Given the description of an element on the screen output the (x, y) to click on. 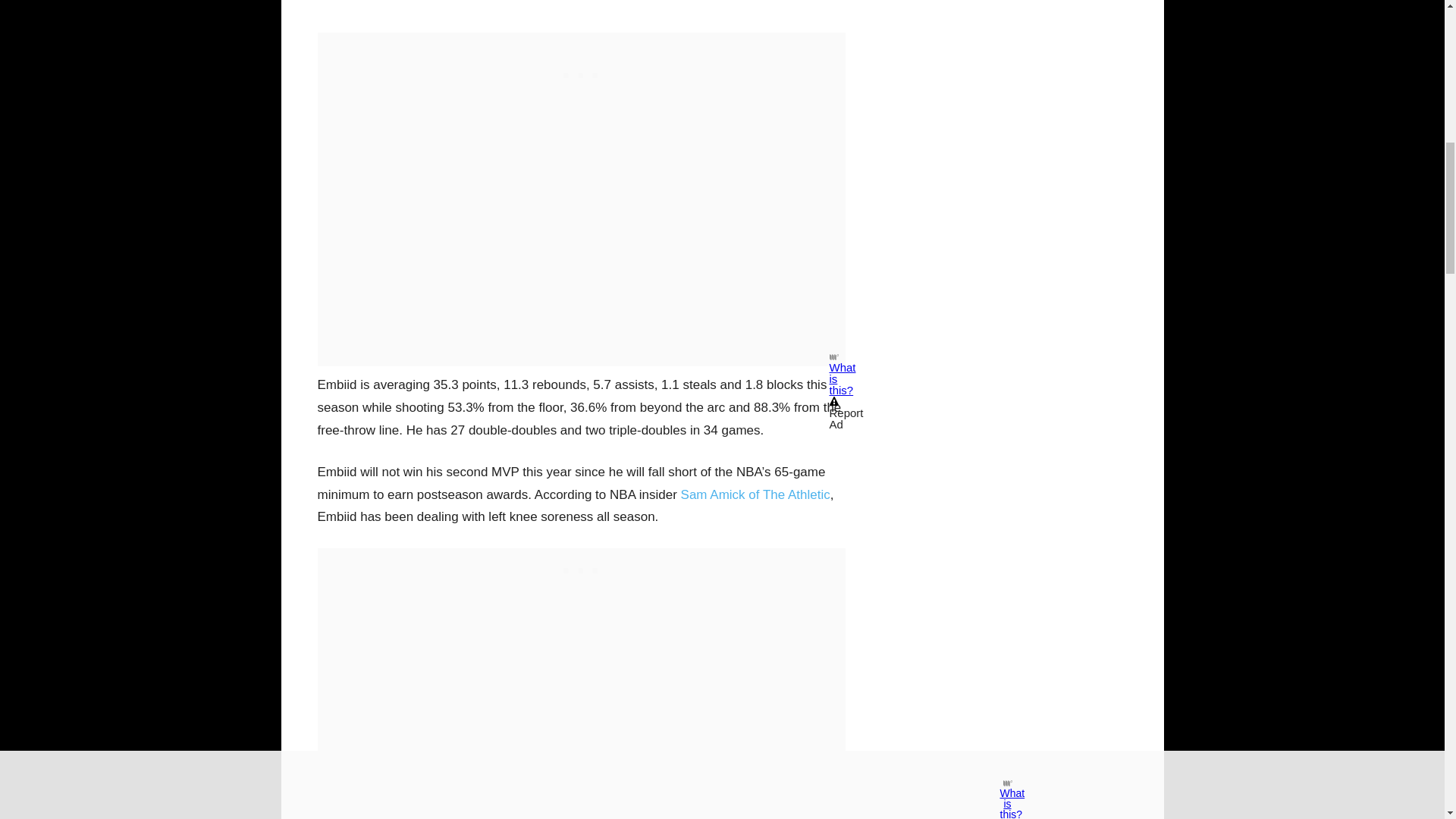
3rd party ad content (580, 566)
3rd party ad content (580, 51)
